Given the description of an element on the screen output the (x, y) to click on. 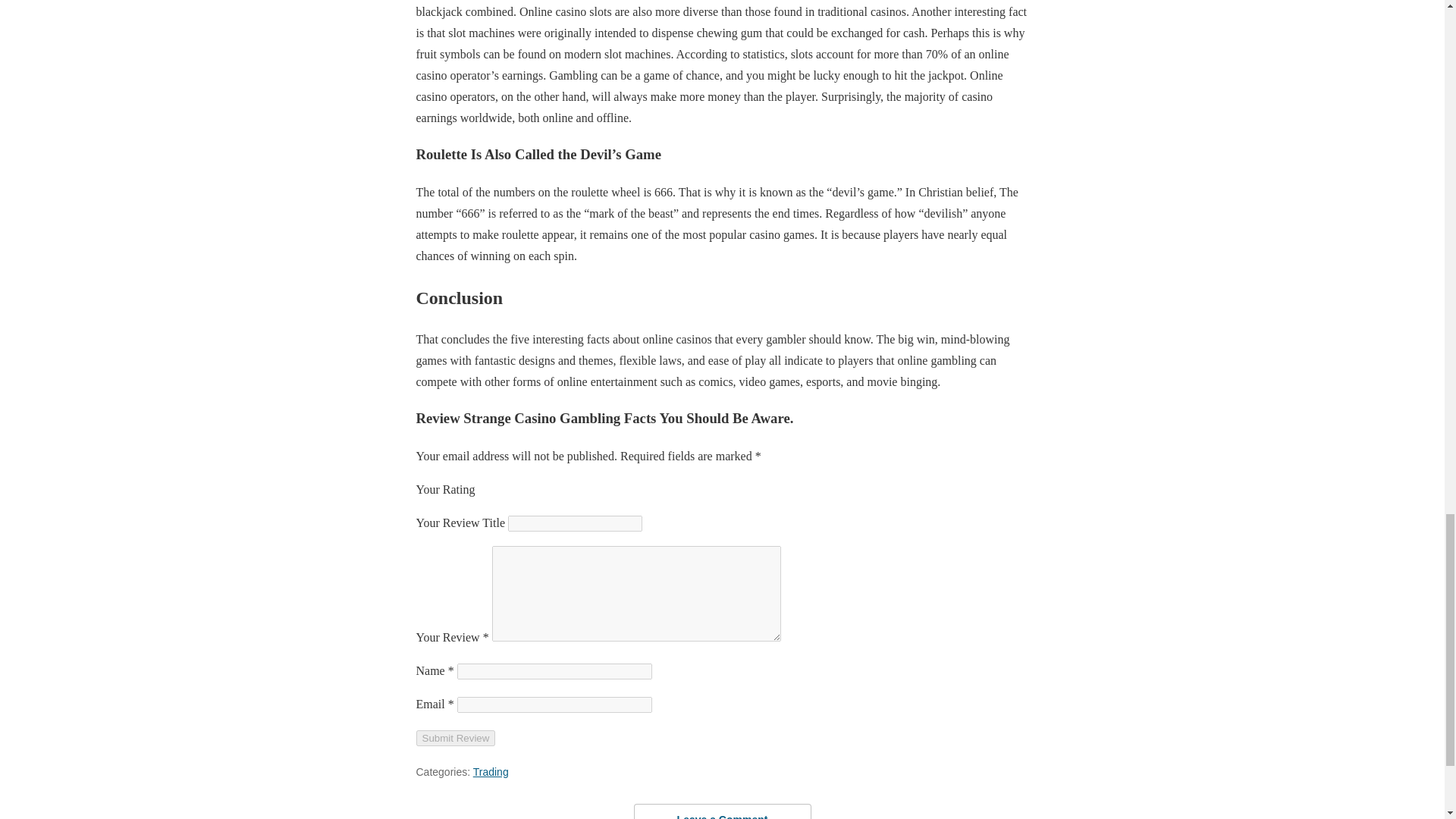
Submit Review (454, 738)
Submit Review (454, 738)
Leave a Comment (721, 811)
Trading (490, 771)
